Given the description of an element on the screen output the (x, y) to click on. 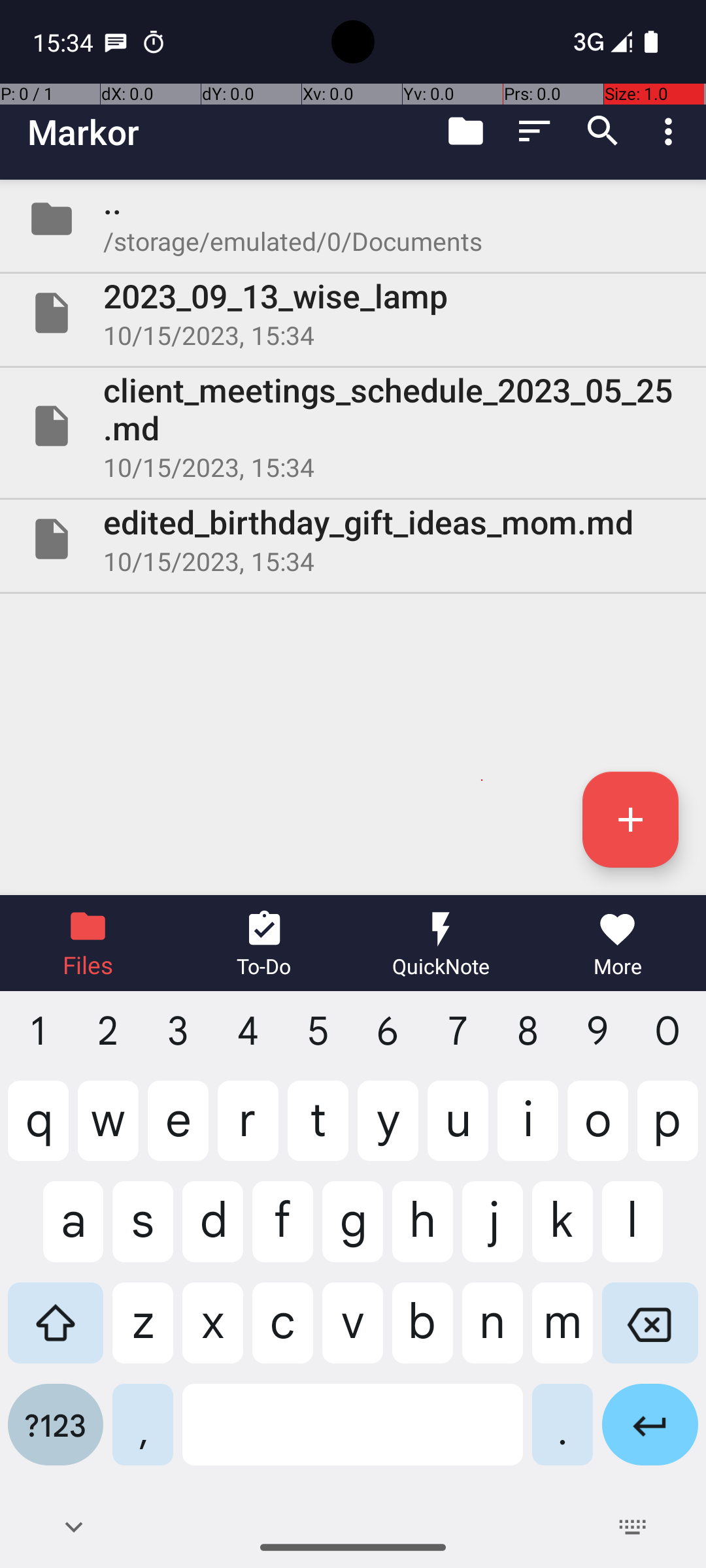
File 2023_09_13_wise_lamp  Element type: android.widget.LinearLayout (353, 312)
File client_meetings_schedule_2023_05_25.md  Element type: android.widget.LinearLayout (353, 425)
File edited_birthday_gift_ideas_mom.md  Element type: android.widget.LinearLayout (353, 538)
